Given the description of an element on the screen output the (x, y) to click on. 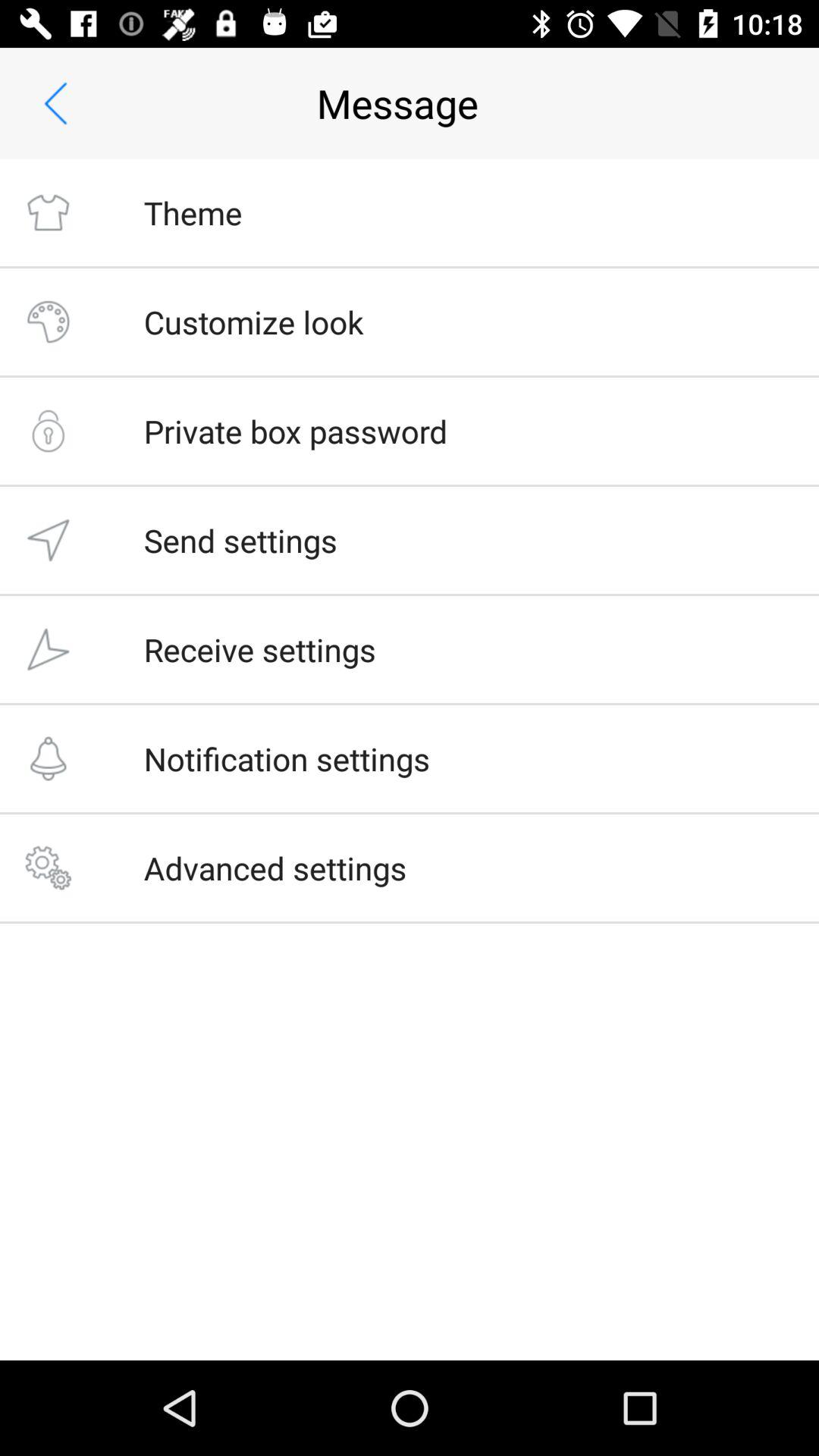
choose private box password item (295, 430)
